Given the description of an element on the screen output the (x, y) to click on. 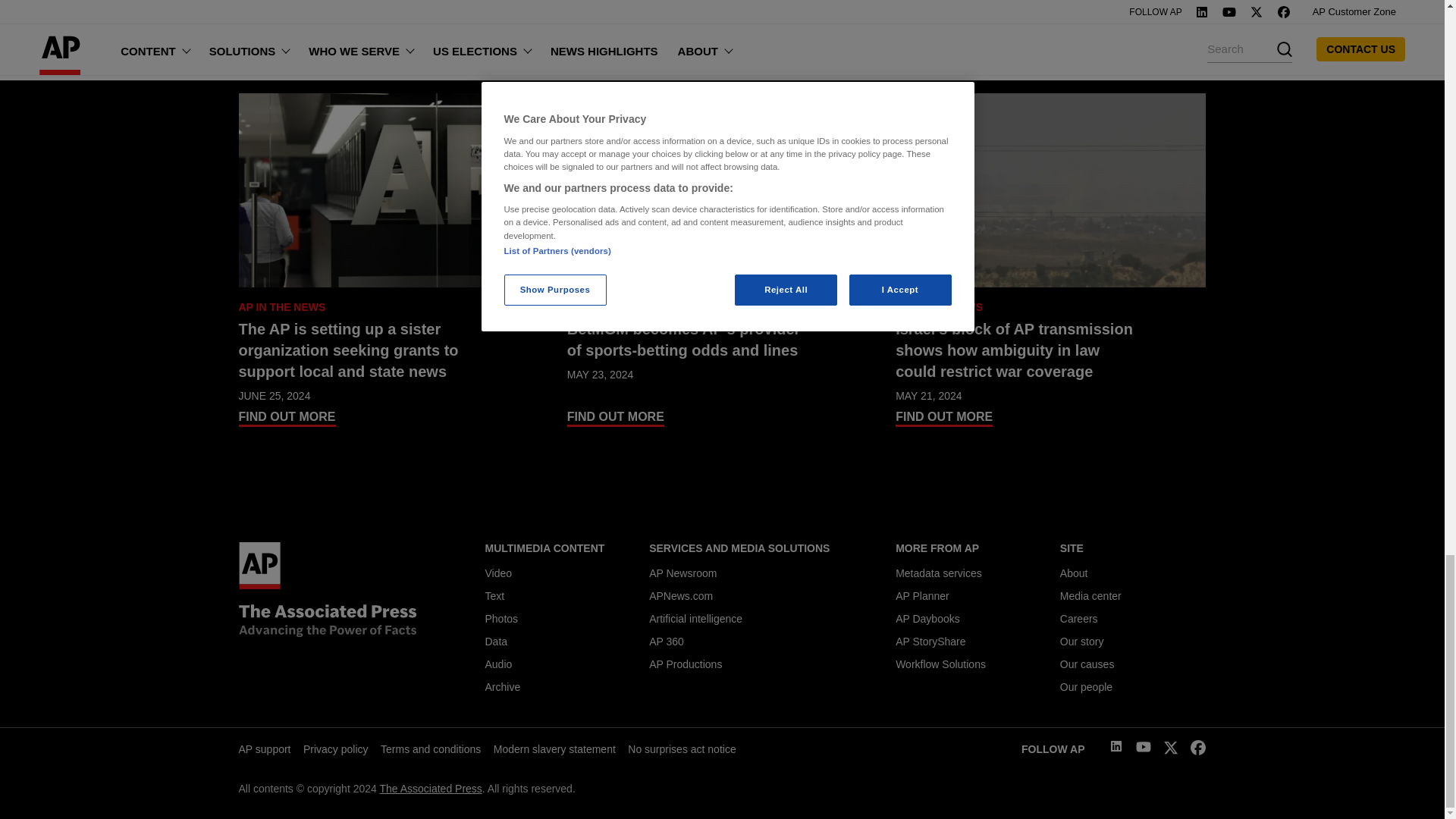
Twitter (1170, 750)
Youtube (1143, 748)
Linkedin (1116, 748)
Facebook (1198, 750)
